Given the description of an element on the screen output the (x, y) to click on. 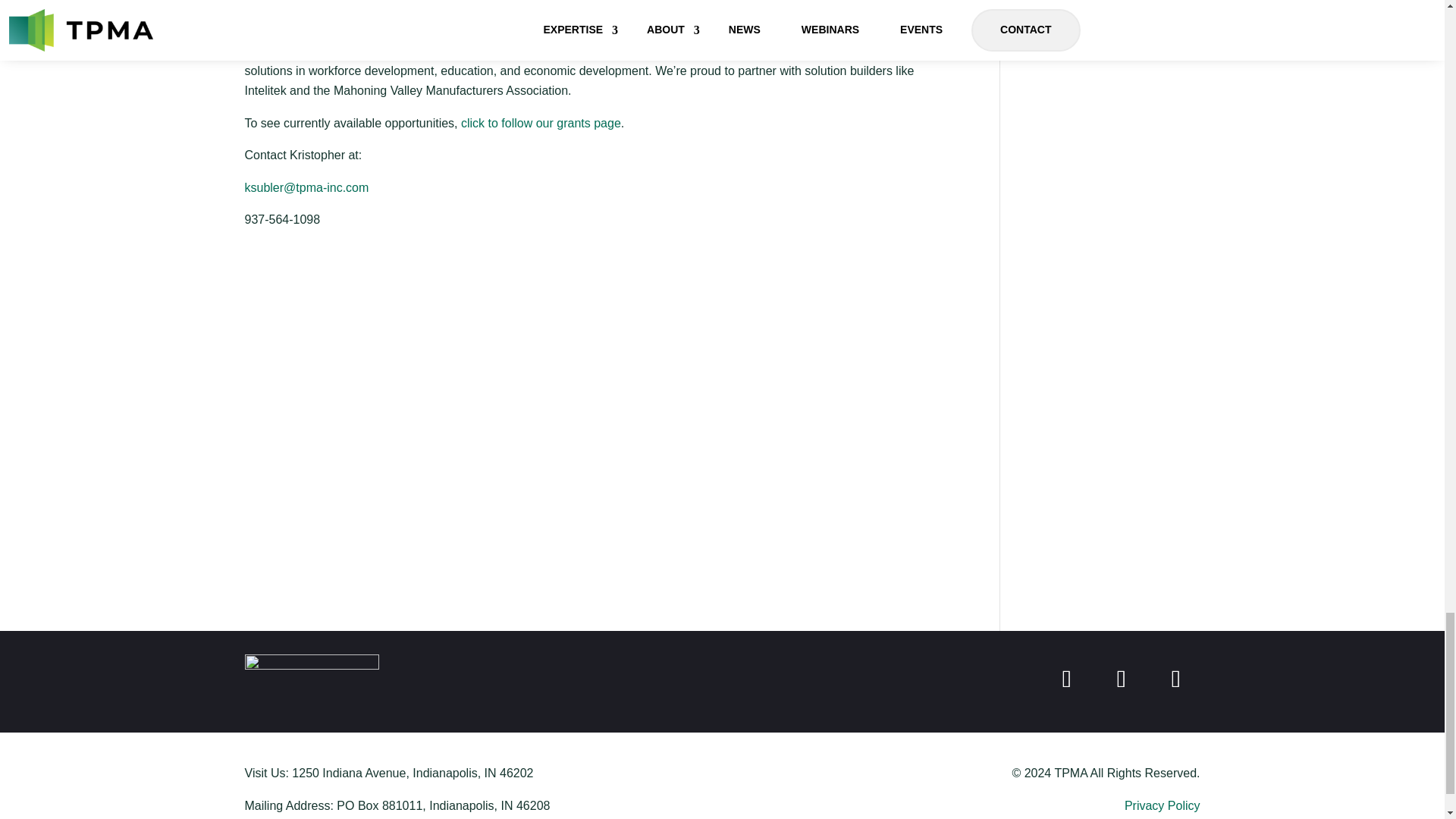
click to follow our grants page (541, 123)
Follow on Facebook (1066, 678)
tpma-white (311, 673)
Follow on LinkedIn (1120, 678)
Follow on X (1175, 678)
Privacy Policy (1161, 805)
